Given the description of an element on the screen output the (x, y) to click on. 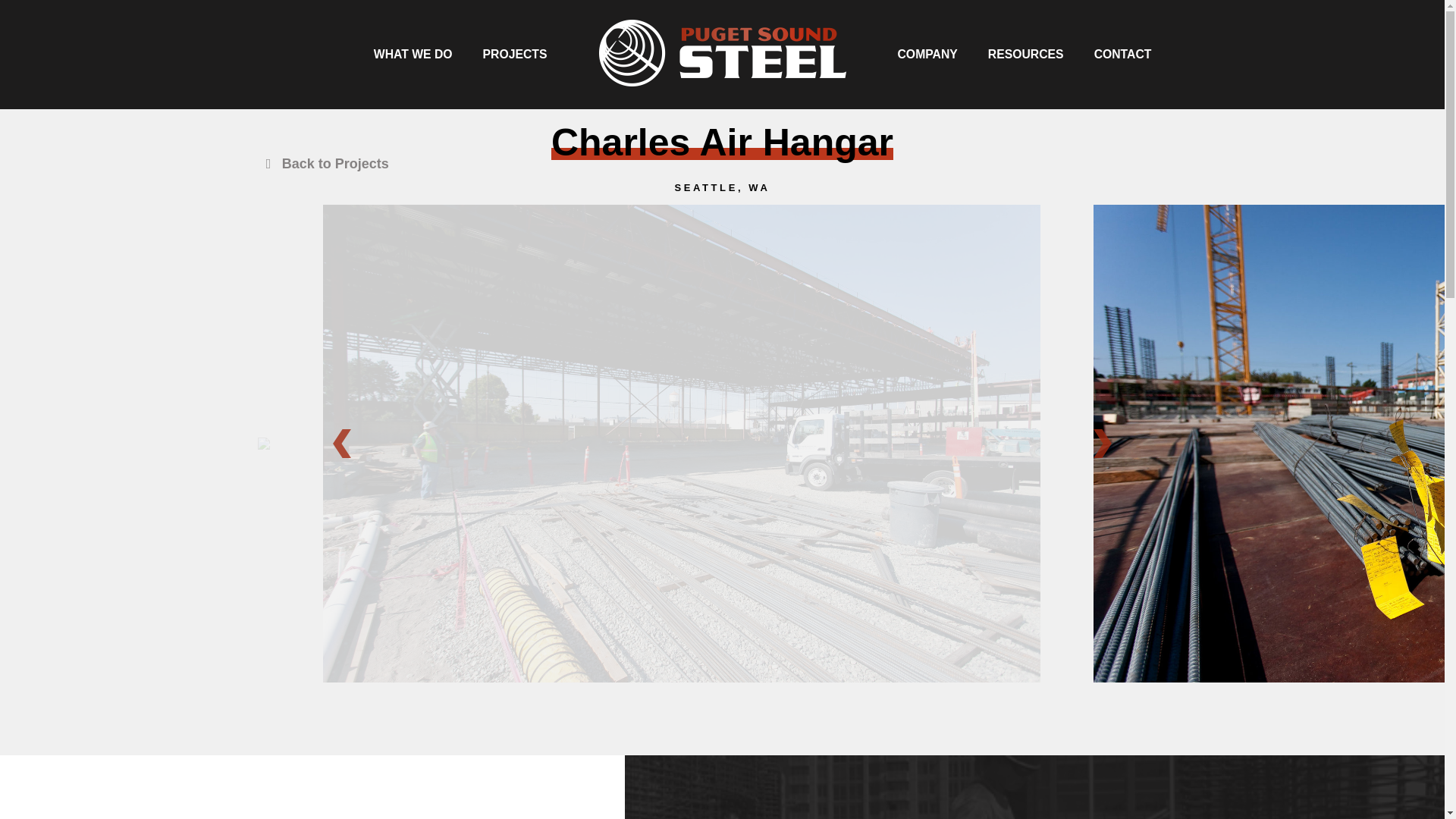
Next (1102, 443)
COMPANY (927, 54)
PROJECTS (514, 54)
Previous (341, 443)
 Back to Projects (323, 163)
RESOURCES (1025, 54)
WHAT WE DO (412, 54)
CONTACT (1122, 54)
